Given the description of an element on the screen output the (x, y) to click on. 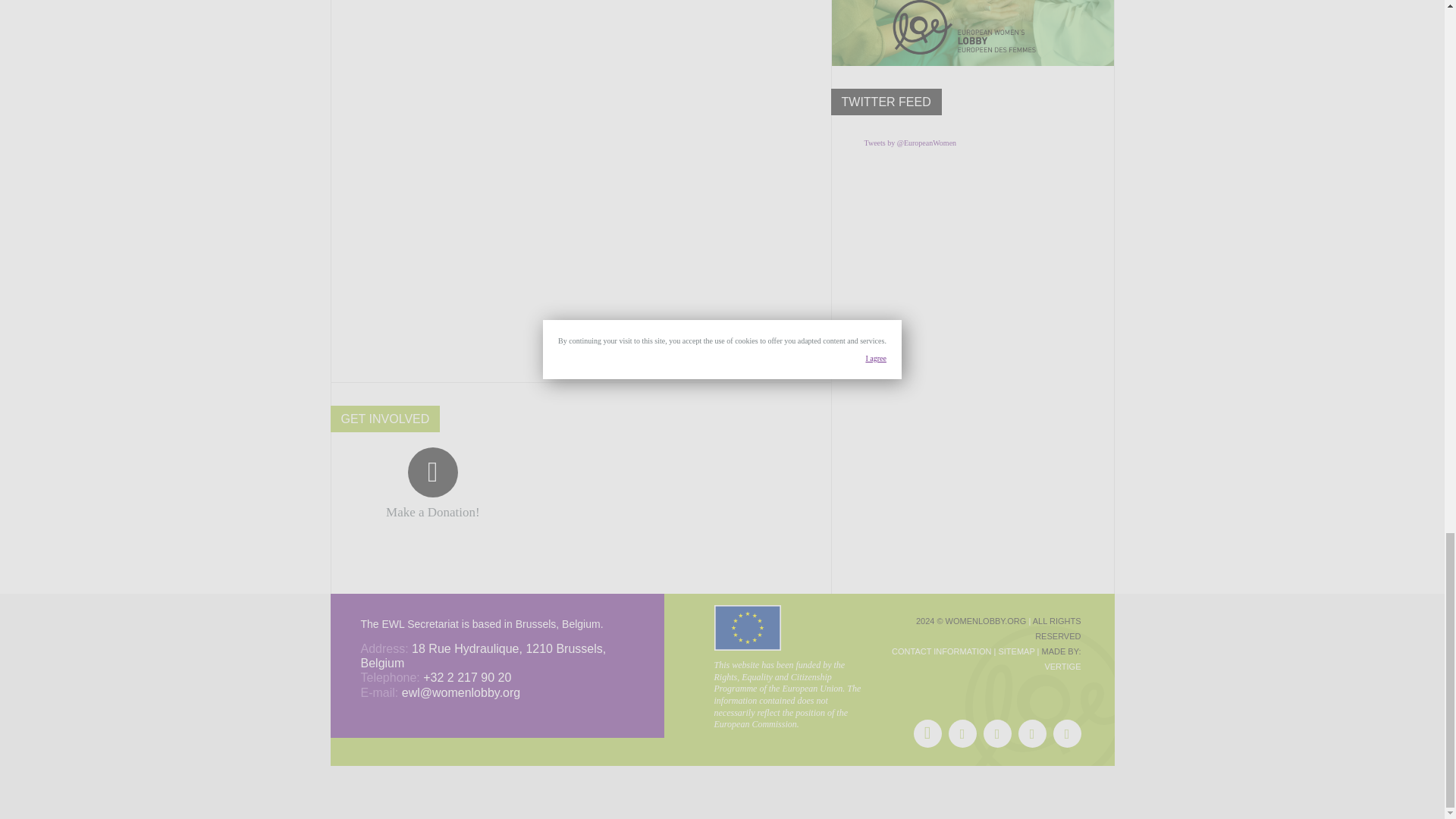
YouTube (1031, 733)
Twitter (961, 733)
Vimeo (1066, 733)
Flickr (996, 733)
Facebook (926, 733)
